Given the description of an element on the screen output the (x, y) to click on. 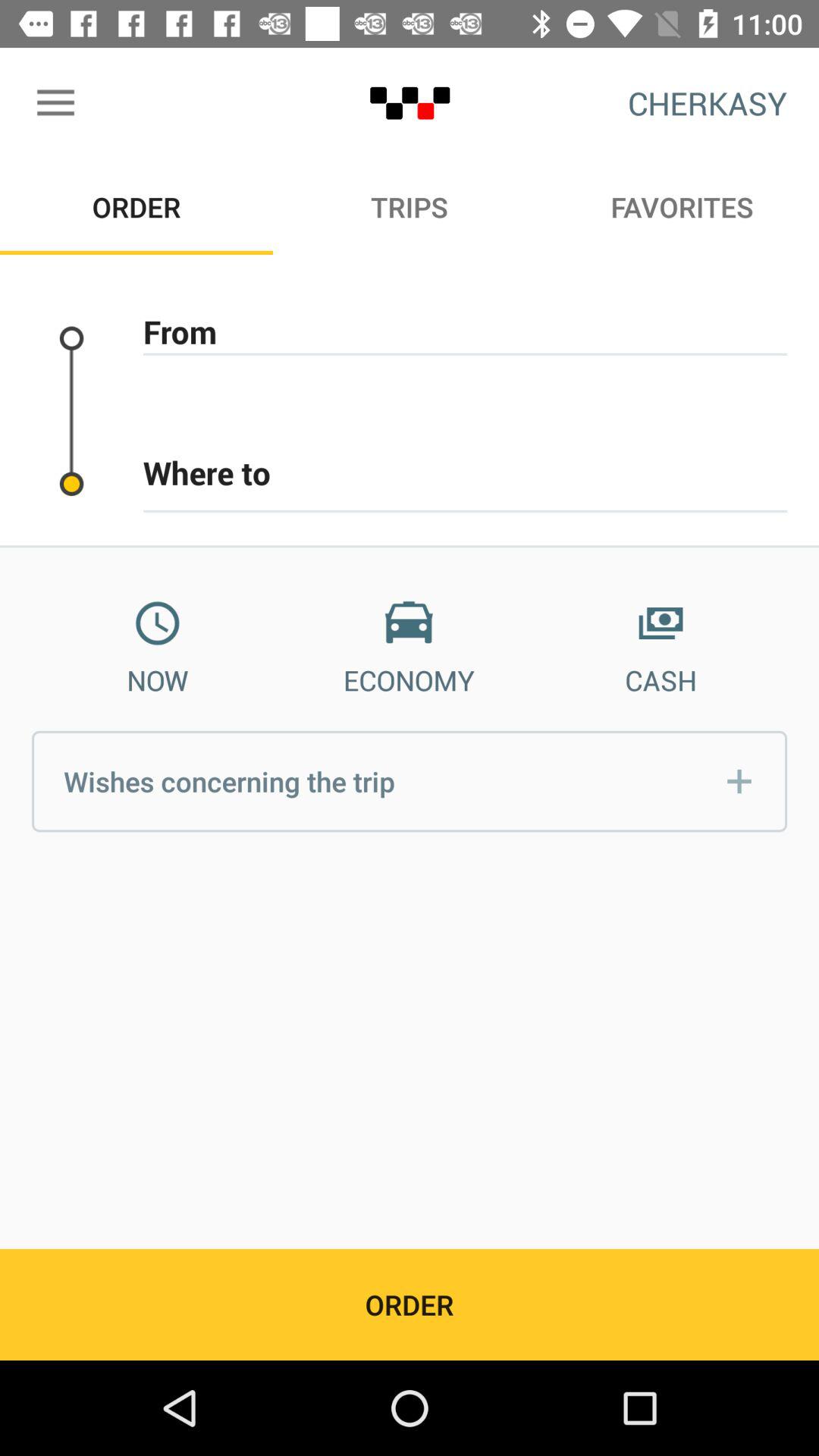
launch the item above favorites (707, 102)
